Given the description of an element on the screen output the (x, y) to click on. 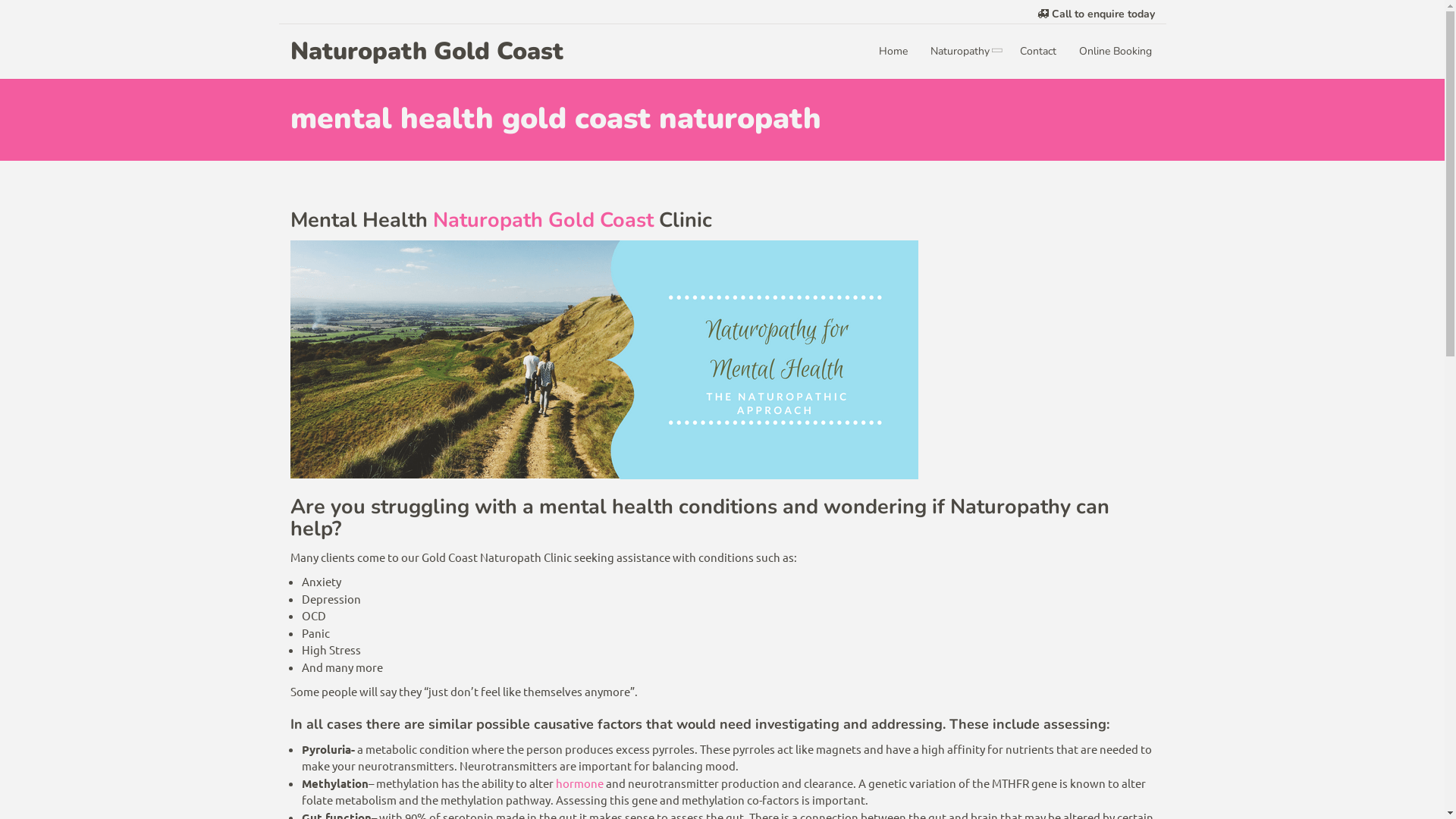
Naturopath Gold Coast Element type: text (425, 51)
Naturopathy Element type: text (963, 51)
Naturopath Gold Coast Element type: text (542, 220)
hormone Element type: text (578, 782)
Online Booking Element type: text (1115, 51)
Home Element type: text (893, 51)
Contact Element type: text (1037, 51)
